Given the description of an element on the screen output the (x, y) to click on. 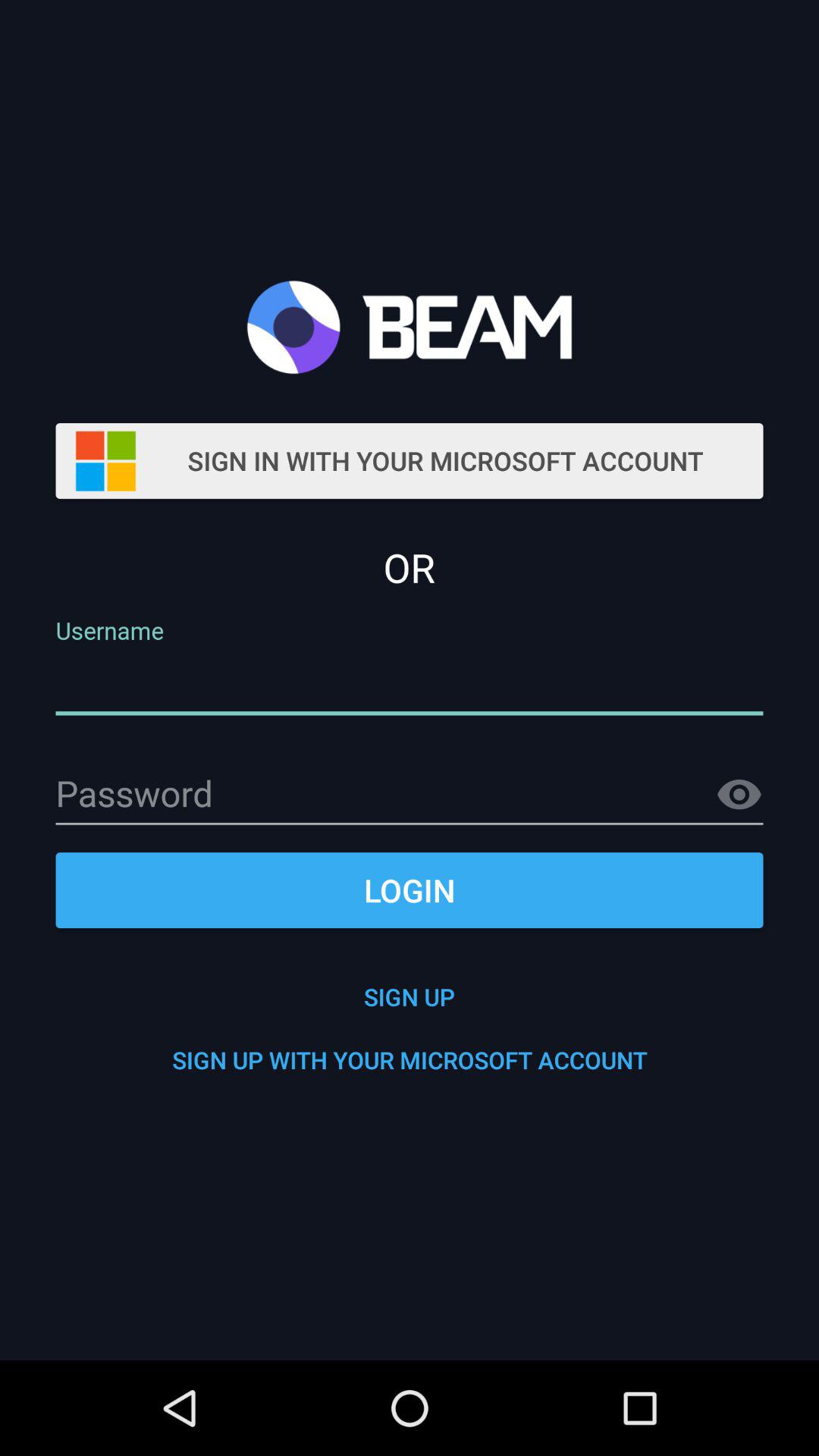
password enter thiis place (409, 795)
